Given the description of an element on the screen output the (x, y) to click on. 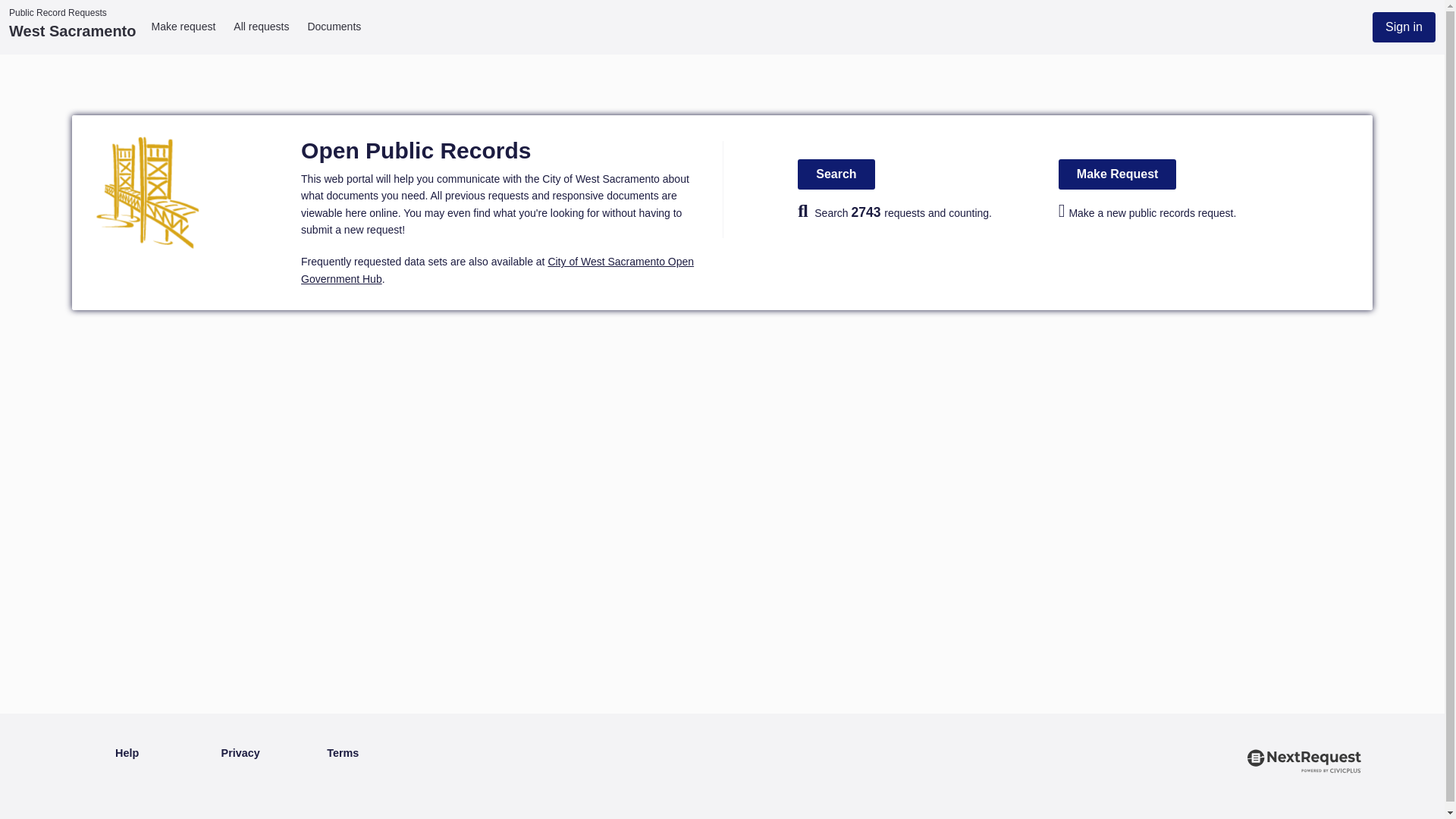
NextRequest Powered by CivicPlus (1304, 781)
Documents (334, 27)
All requests (260, 27)
Make Request (1117, 173)
Terms (342, 753)
NextRequest Powered by CivicPlus (1304, 815)
West Sacramento (70, 30)
West Sacramento (70, 30)
Sign in (1404, 27)
Privacy (240, 753)
